Given the description of an element on the screen output the (x, y) to click on. 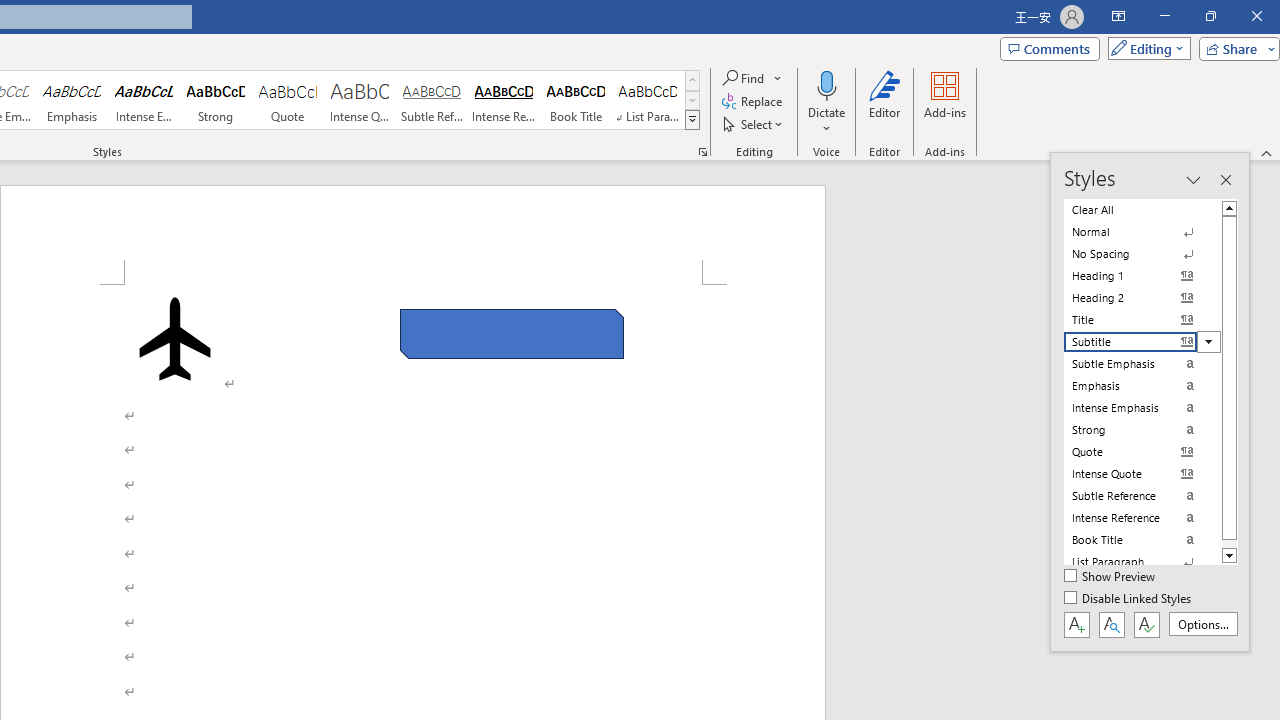
Quote (287, 100)
Dictate (826, 102)
Comments (1049, 48)
More Options (826, 121)
Close (1256, 16)
Share (1235, 48)
Class: NetUIButton (1146, 624)
Book Title (575, 100)
List Paragraph (1142, 561)
Heading 2 (1142, 297)
Editing (1144, 47)
No Spacing (1142, 253)
Heading 1 (1142, 275)
Replace... (753, 101)
